Given the description of an element on the screen output the (x, y) to click on. 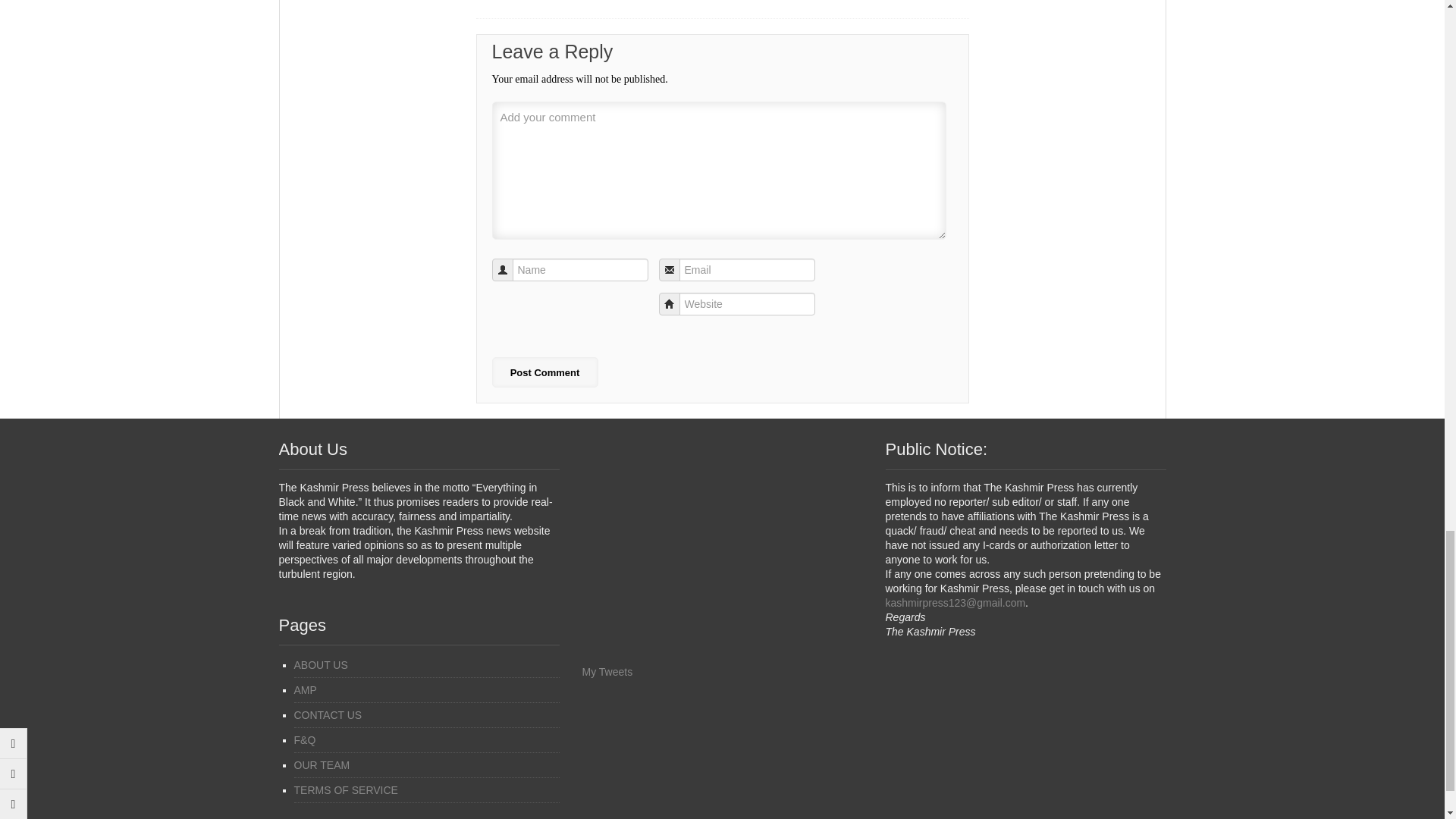
Post Comment (544, 372)
